Given the description of an element on the screen output the (x, y) to click on. 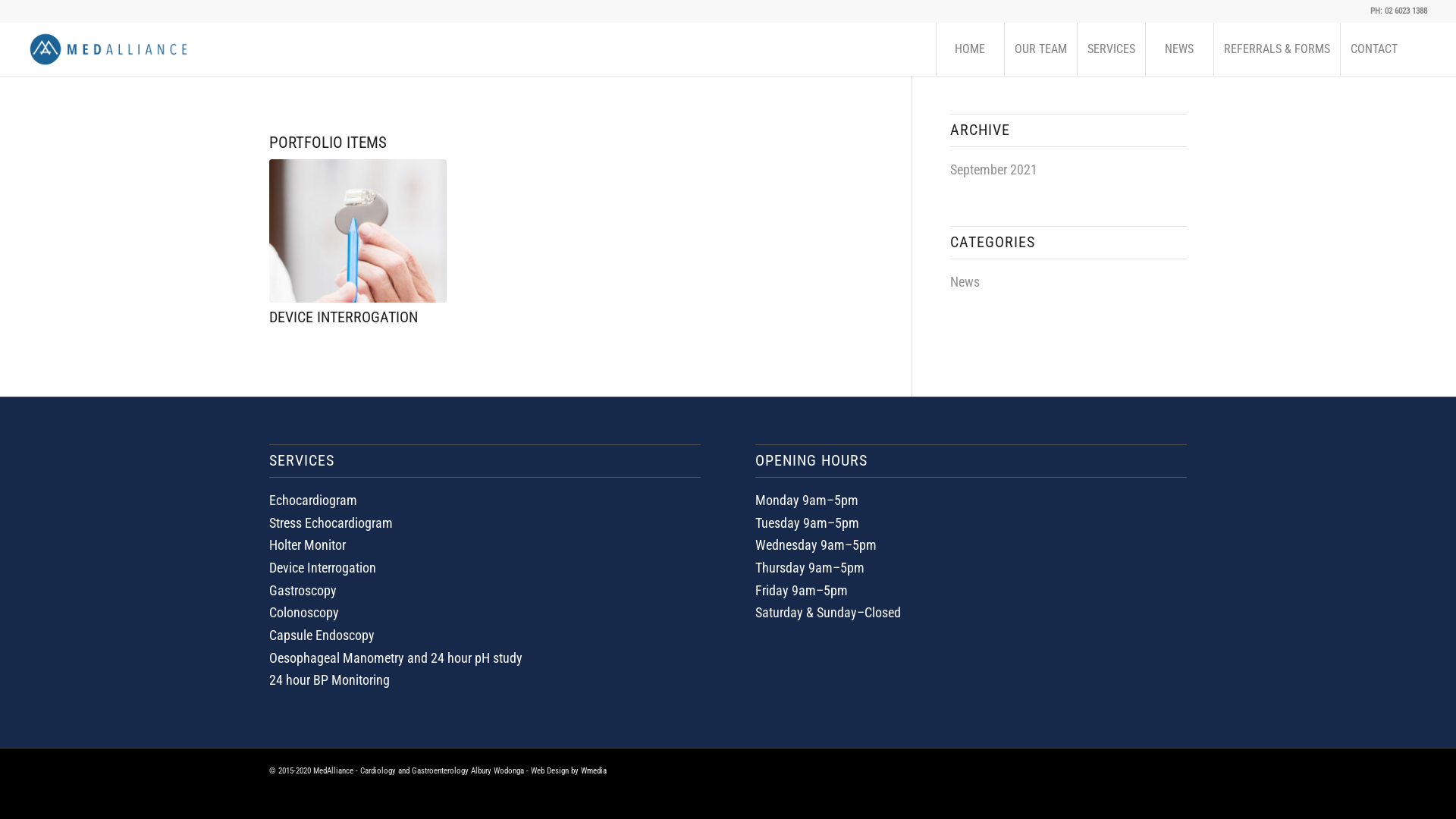
Oesophageal Manometry and 24 hour pH study Element type: text (395, 657)
News Element type: text (964, 281)
REFERRALS & FORMS Element type: text (1276, 48)
September 2021 Element type: text (993, 169)
PH: 02 6023 1388 Element type: text (1398, 10)
Gastroscopy Element type: text (302, 590)
24 hour BP Monitoring Element type: text (329, 679)
DEVICE INTERROGATION Element type: text (343, 317)
Wmedia Element type: text (593, 770)
Capsule Endoscopy Element type: text (321, 635)
HOME Element type: text (969, 48)
Stress Echocardiogram Element type: text (330, 522)
Device Interrogation Element type: text (322, 567)
CONTACT Element type: text (1373, 48)
Colonoscopy Element type: text (303, 612)
Echocardiogram Element type: text (313, 500)
OUR TEAM Element type: text (1040, 48)
SERVICES Element type: text (1110, 48)
Holter Monitor Element type: text (307, 544)
NEWS Element type: text (1179, 48)
